Given the description of an element on the screen output the (x, y) to click on. 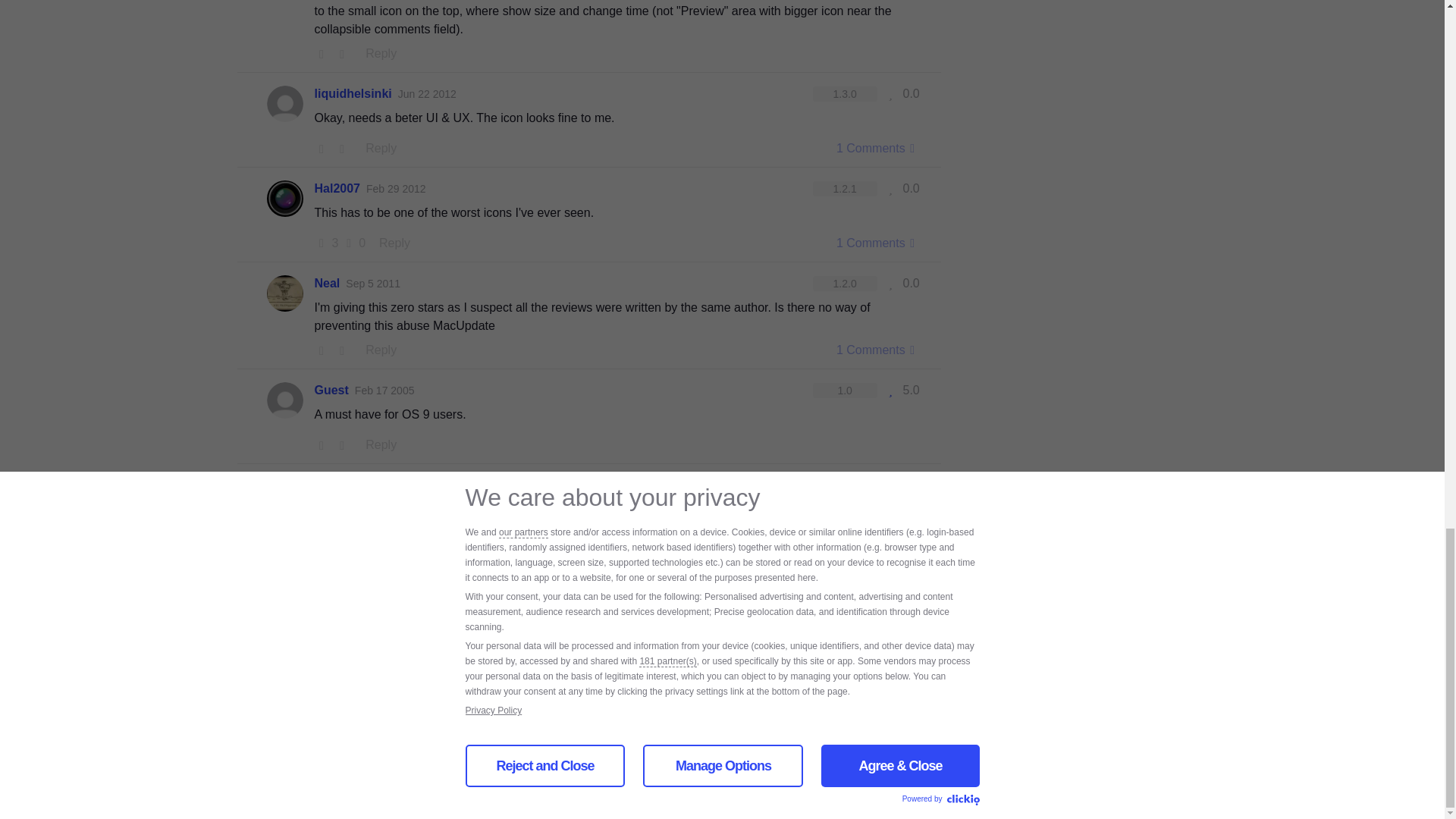
liquidhelsinki (352, 94)
Version: 1.3.0 (844, 93)
Version: 1.2.0 (844, 283)
Hal2007 (336, 188)
Version: 1.0 (844, 390)
Neal (326, 283)
Guest (330, 390)
Version: 1.2.1 (844, 188)
